Given the description of an element on the screen output the (x, y) to click on. 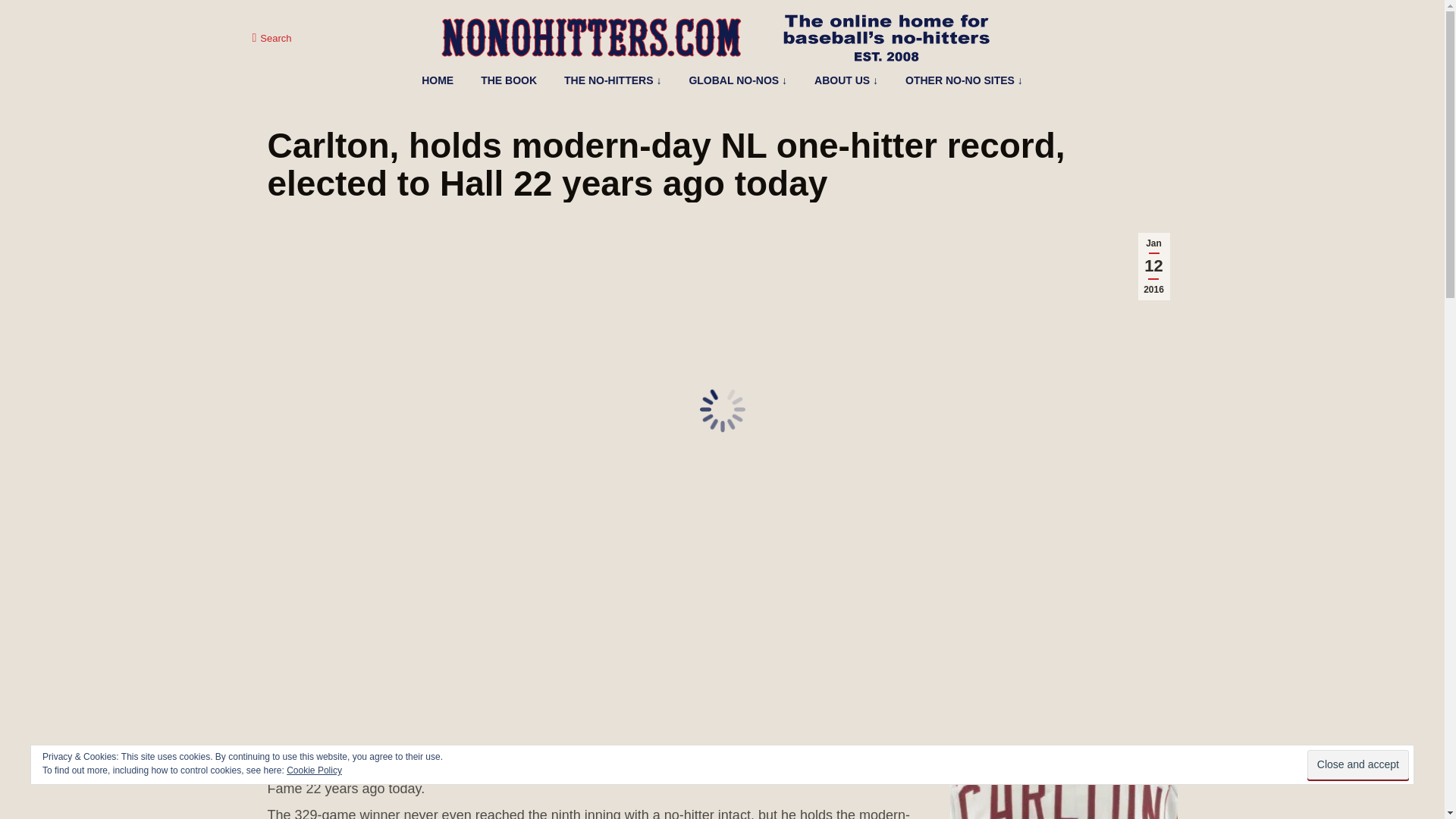
Close and accept (1358, 764)
HOME (438, 80)
Search (271, 38)
Back to the home page (438, 80)
Go! (24, 16)
THE BOOK (508, 80)
